Given the description of an element on the screen output the (x, y) to click on. 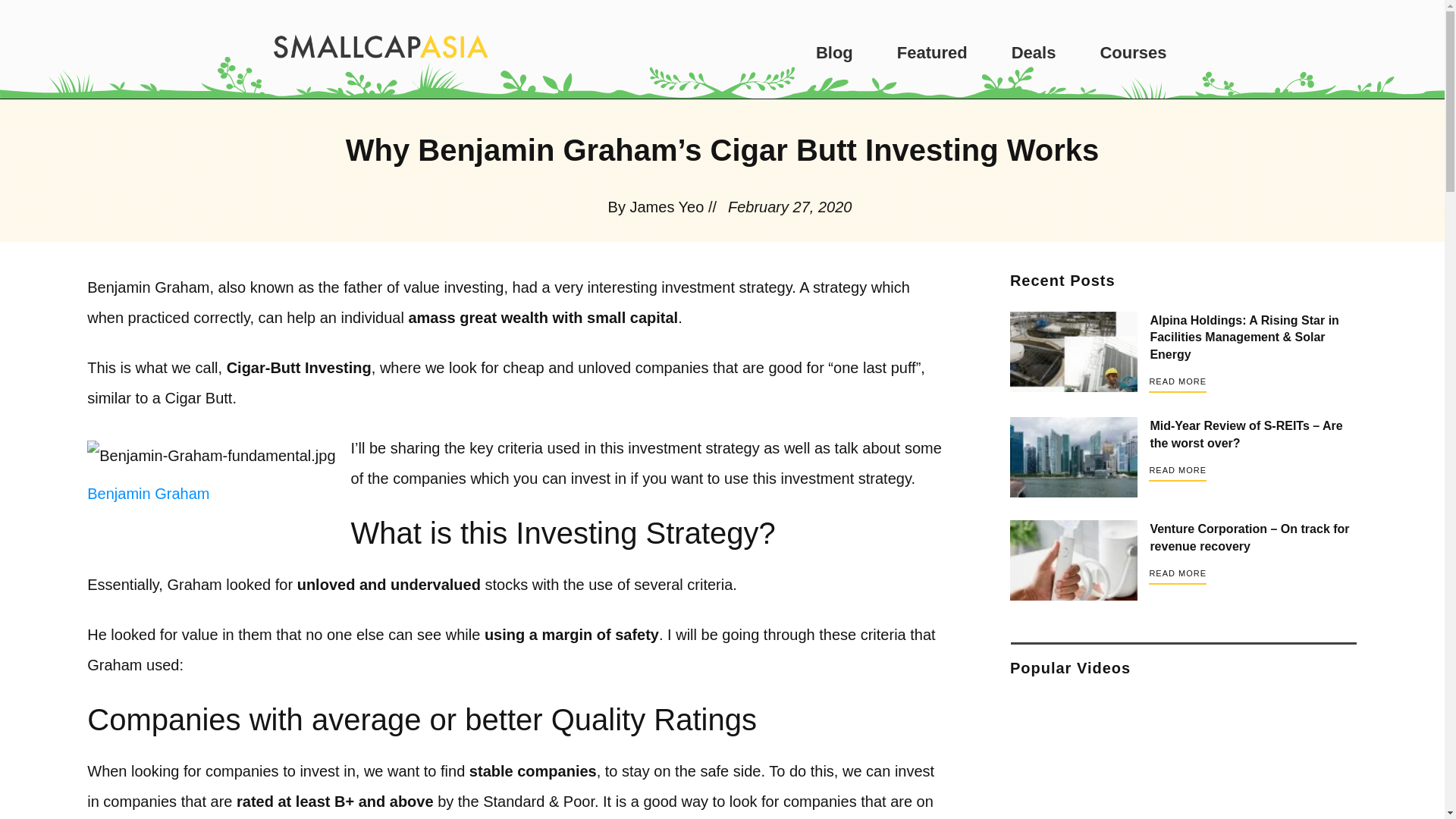
Blog (834, 52)
Featured (932, 52)
READ MORE (1177, 574)
Benjamin Graham (148, 493)
READ MORE (1177, 471)
Deals (1034, 52)
Courses (1132, 52)
Responsive Video (1184, 755)
READ MORE (1177, 383)
